Given the description of an element on the screen output the (x, y) to click on. 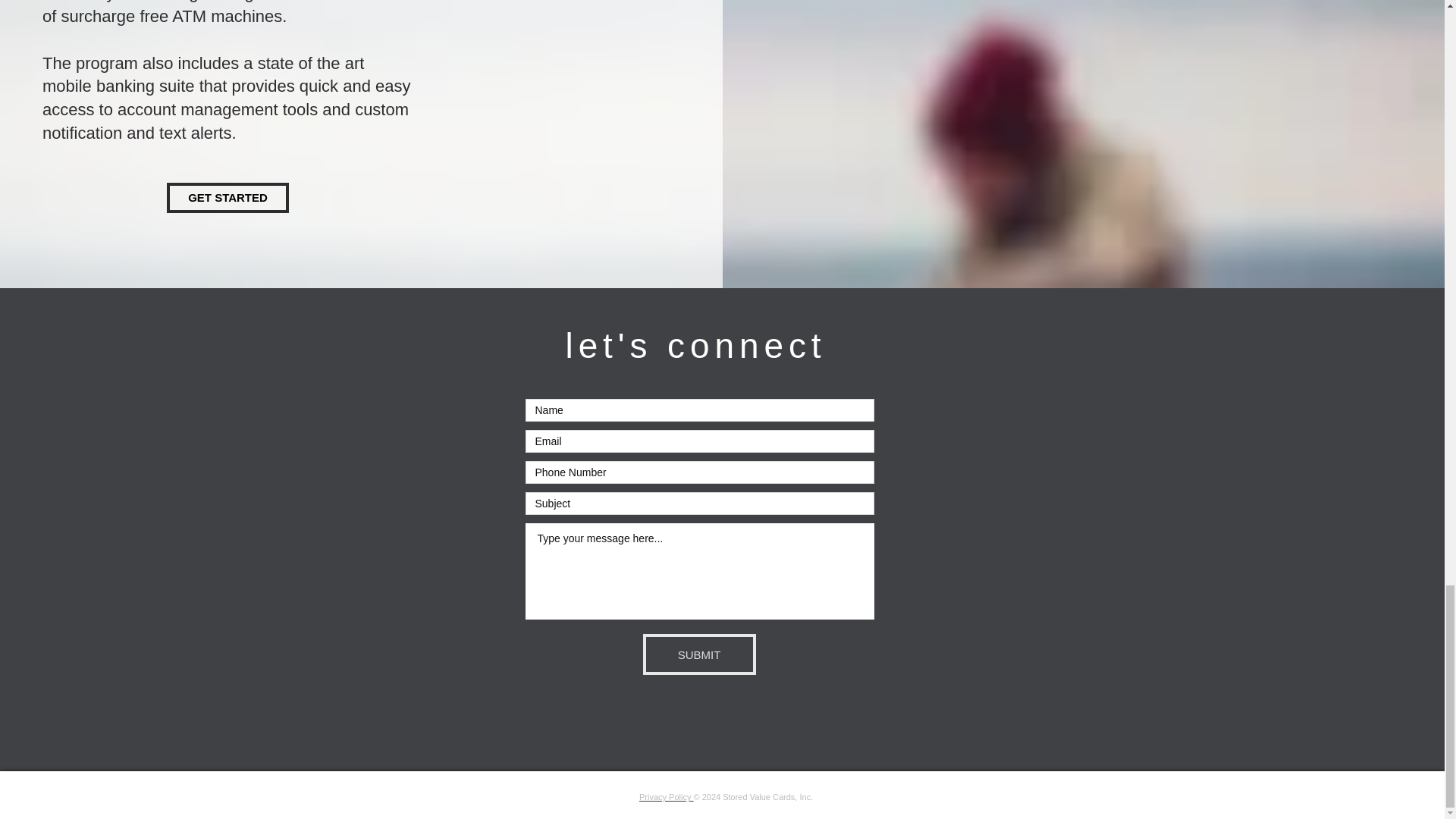
GET STARTED (227, 197)
Privacy Policy  (666, 796)
SUBMIT (699, 653)
